Given the description of an element on the screen output the (x, y) to click on. 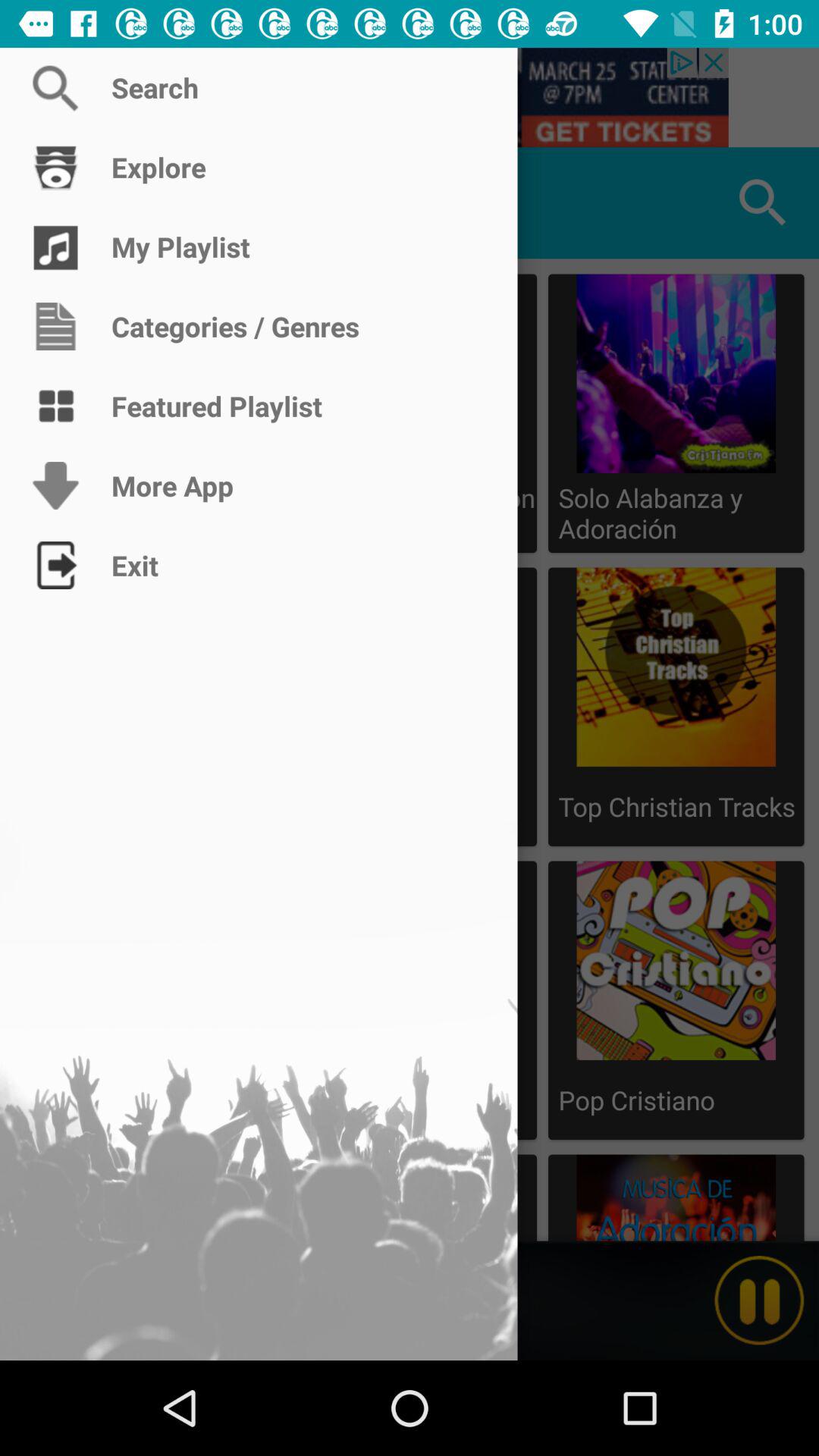
play or pause (759, 1300)
